Given the description of an element on the screen output the (x, y) to click on. 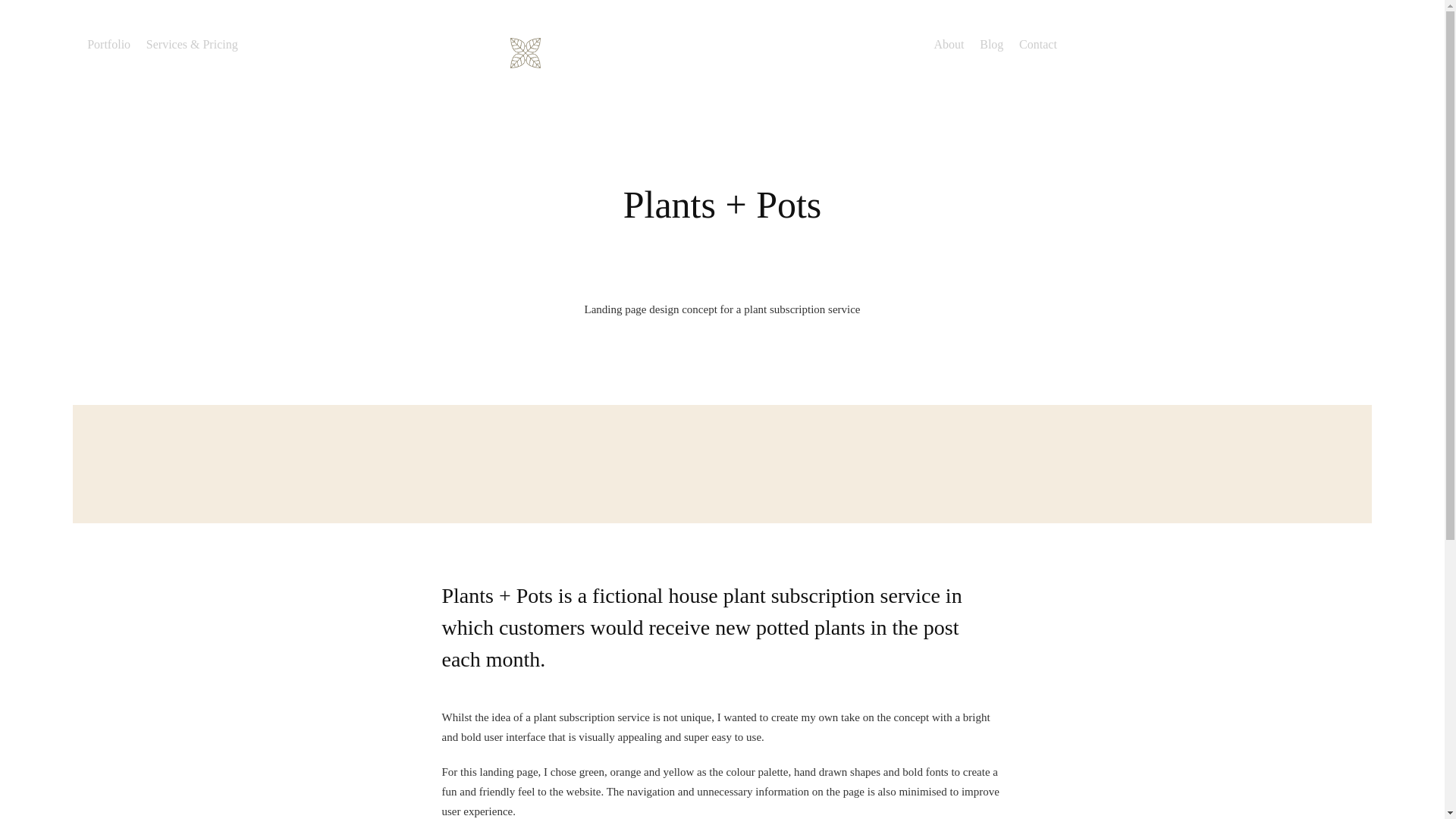
Portfolio (109, 45)
About (948, 45)
Contact (1038, 45)
Blog (991, 45)
